Given the description of an element on the screen output the (x, y) to click on. 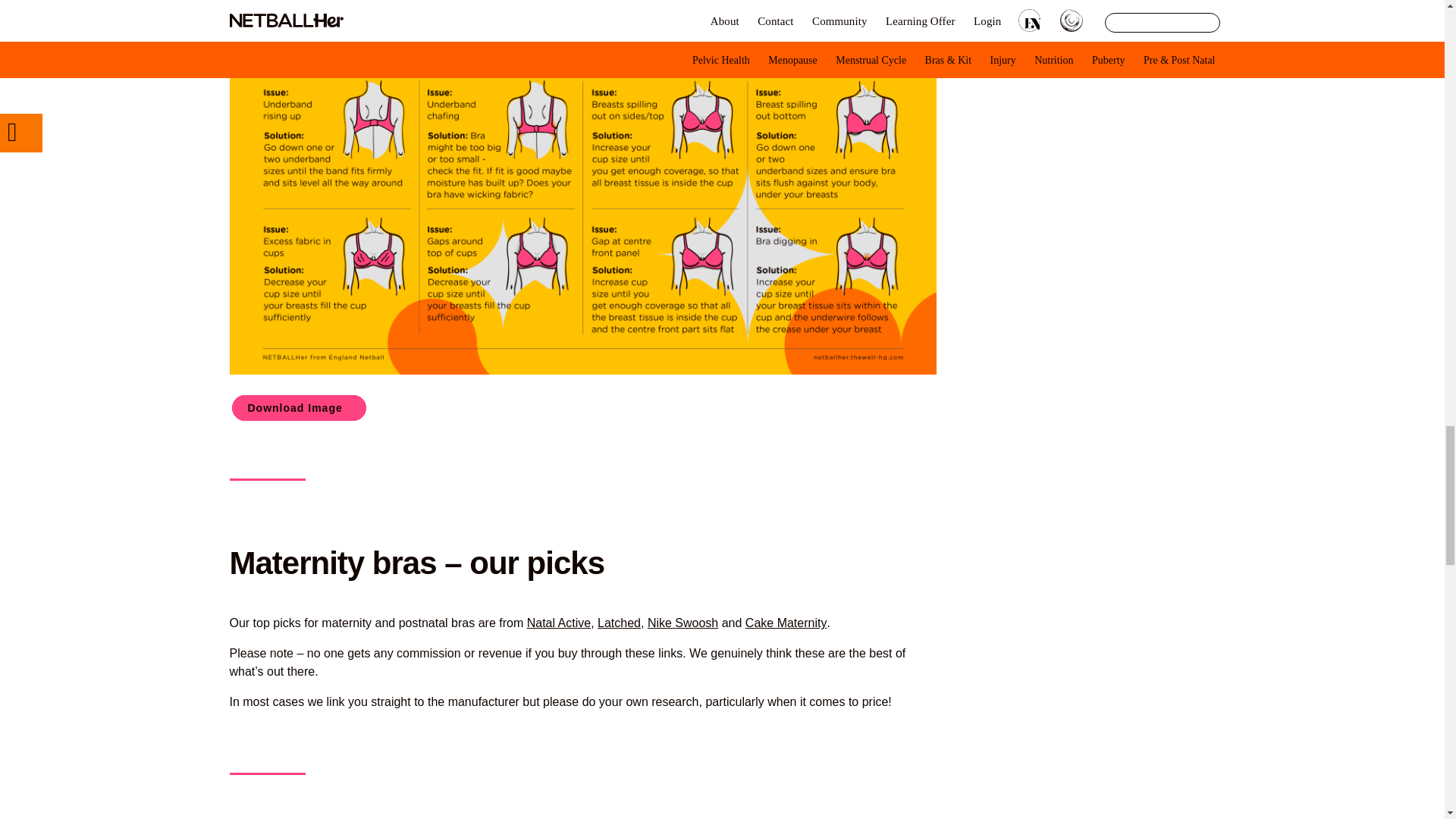
Latched (618, 622)
Download Image (298, 407)
Nike Swoosh (682, 622)
Natal Active (559, 622)
Cake Maternity (786, 622)
